Given the description of an element on the screen output the (x, y) to click on. 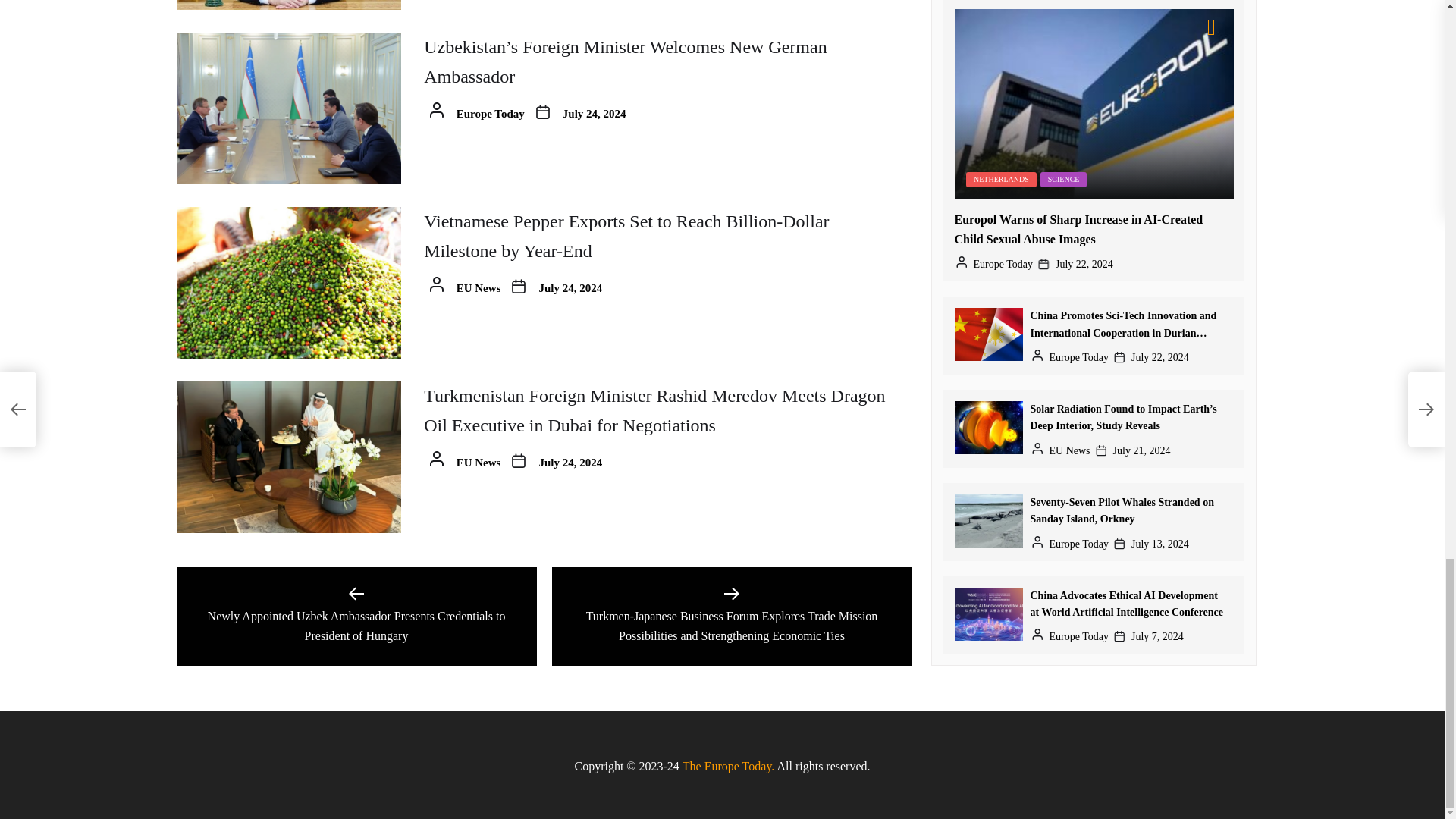
The Europe Today (728, 766)
